Given the description of an element on the screen output the (x, y) to click on. 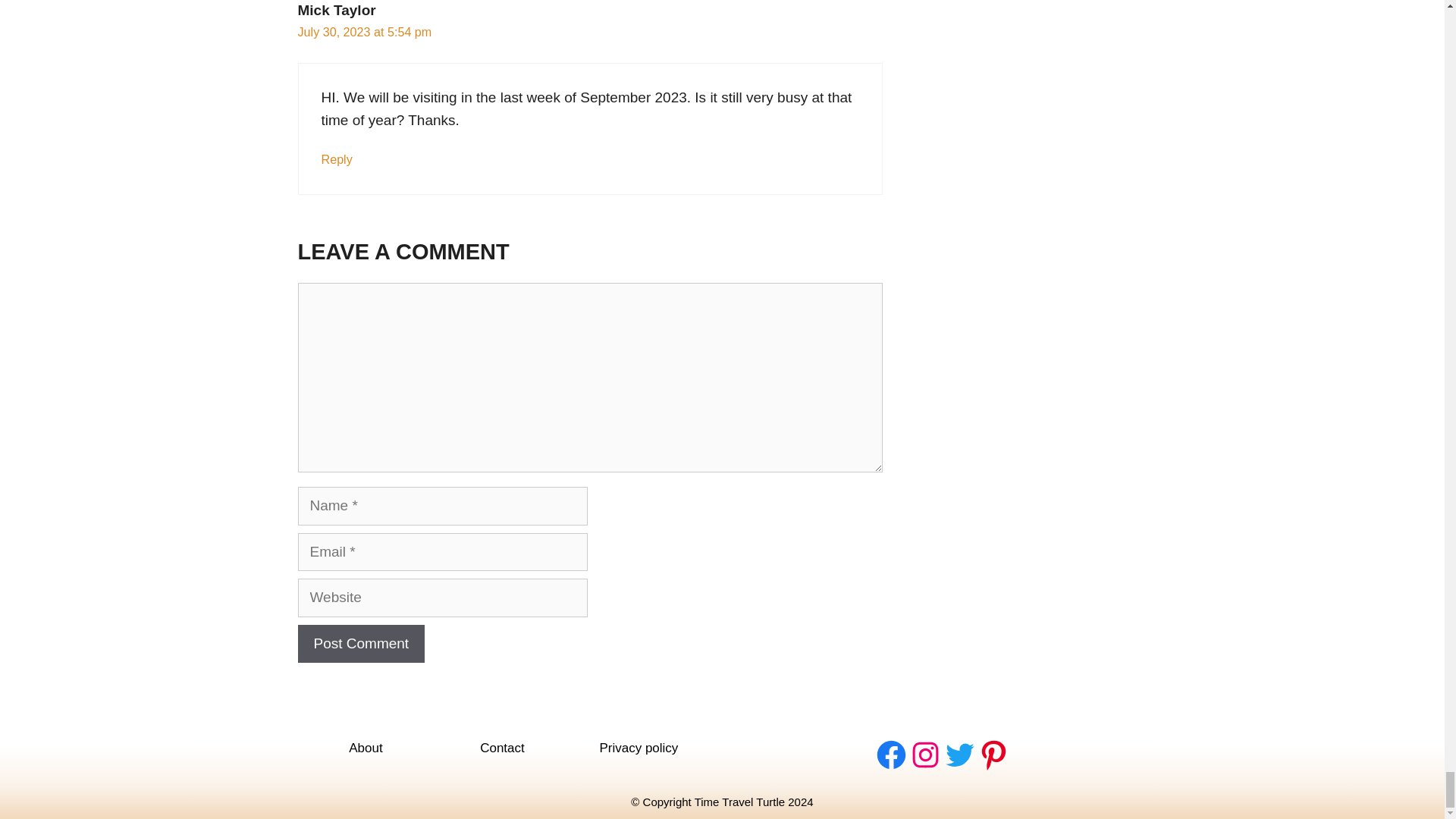
Post Comment (361, 643)
